Given the description of an element on the screen output the (x, y) to click on. 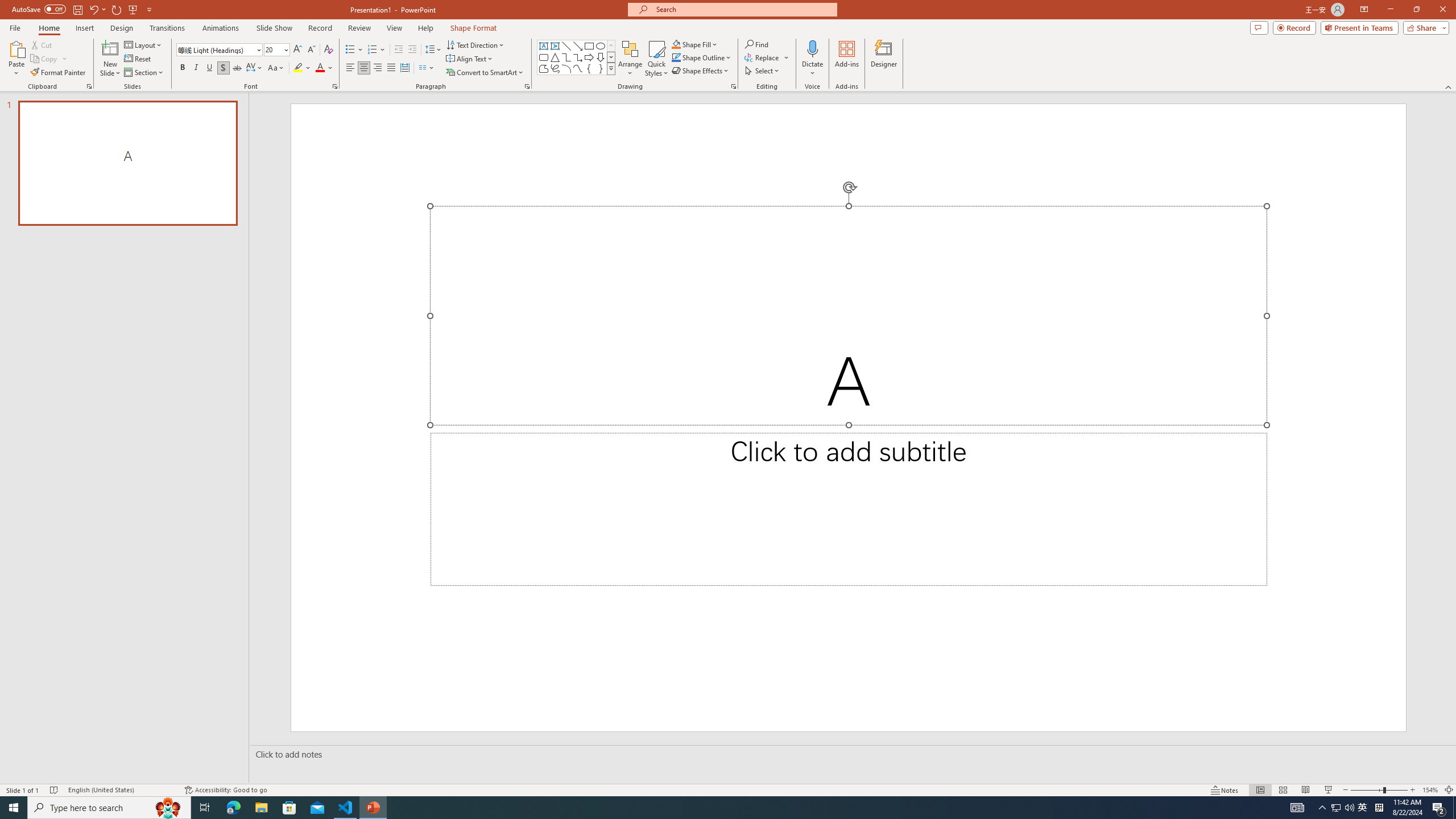
Accessibility Checker Accessibility: Good to go (226, 790)
